Given the description of an element on the screen output the (x, y) to click on. 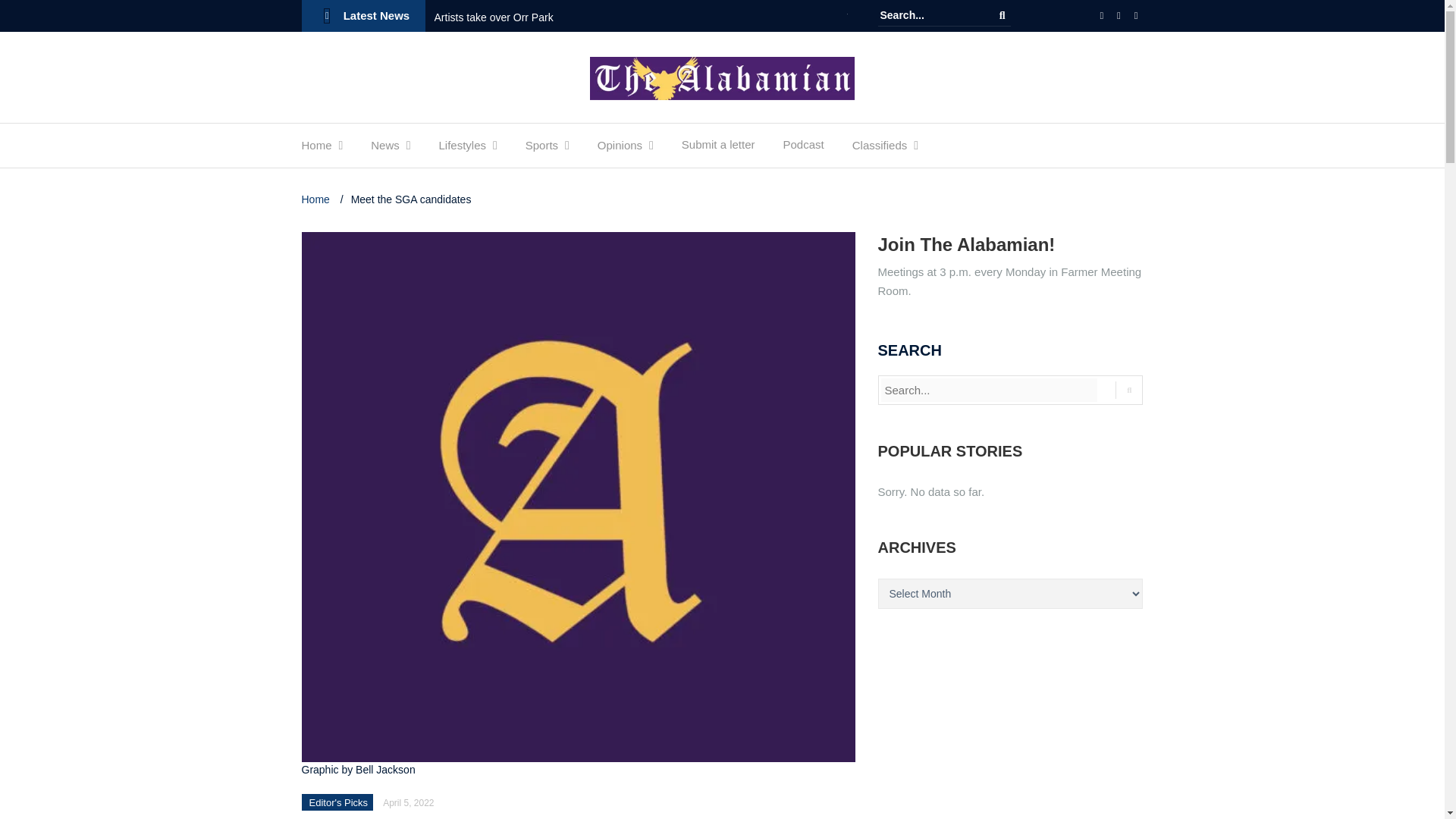
Lifestyles (462, 148)
Search   (1002, 14)
Artists take over Orr Park  (494, 17)
News (384, 148)
Home (316, 148)
